Given the description of an element on the screen output the (x, y) to click on. 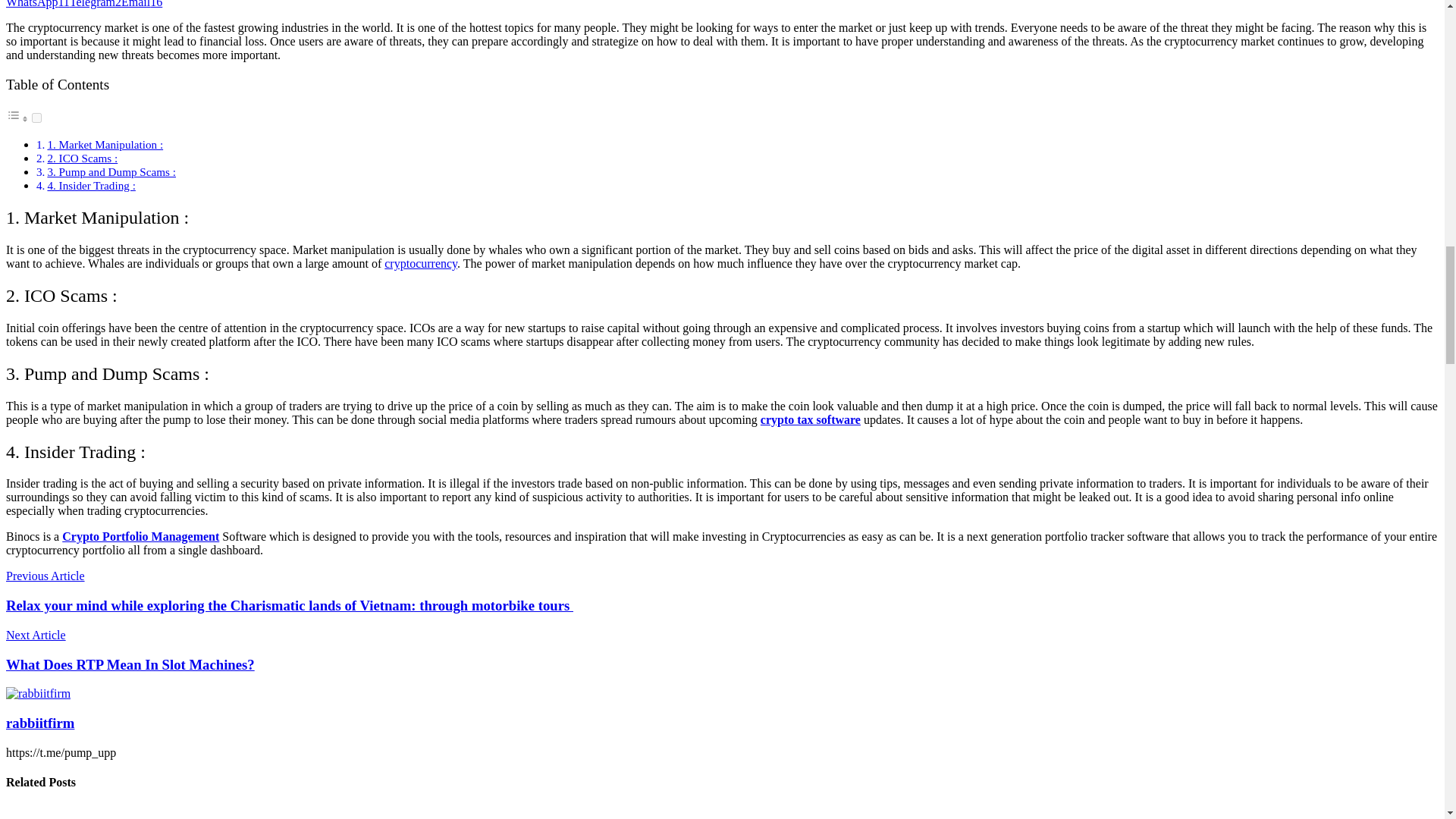
4. Insider Trading : (90, 185)
1. Market Manipulation : (104, 144)
Telegram2 (94, 4)
2. ICO Scams : (81, 157)
3. Pump and Dump Scams : (111, 171)
WhatsApp11 (37, 4)
on (37, 117)
